Given the description of an element on the screen output the (x, y) to click on. 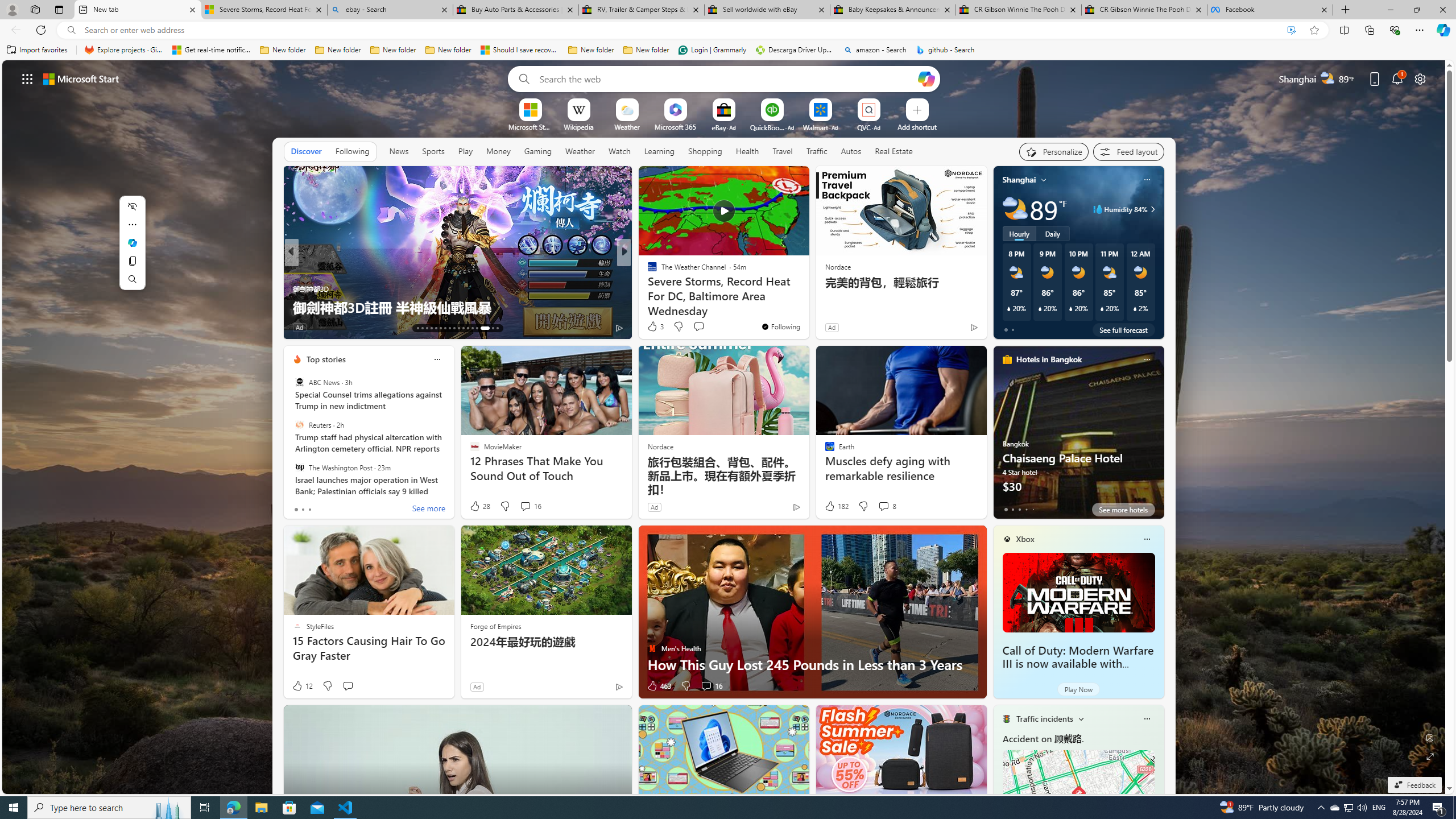
AutomationID: tab-25 (472, 328)
New Tab (1346, 9)
View comments 16 Comment (710, 685)
Money (498, 151)
Open Copilot (925, 78)
Gaming (537, 151)
Forge of Empires (495, 625)
Traffic (816, 151)
Travel (782, 151)
Wikipedia (578, 126)
Xbox (1025, 538)
See full forecast (1123, 329)
Weather (580, 151)
